Given the description of an element on the screen output the (x, y) to click on. 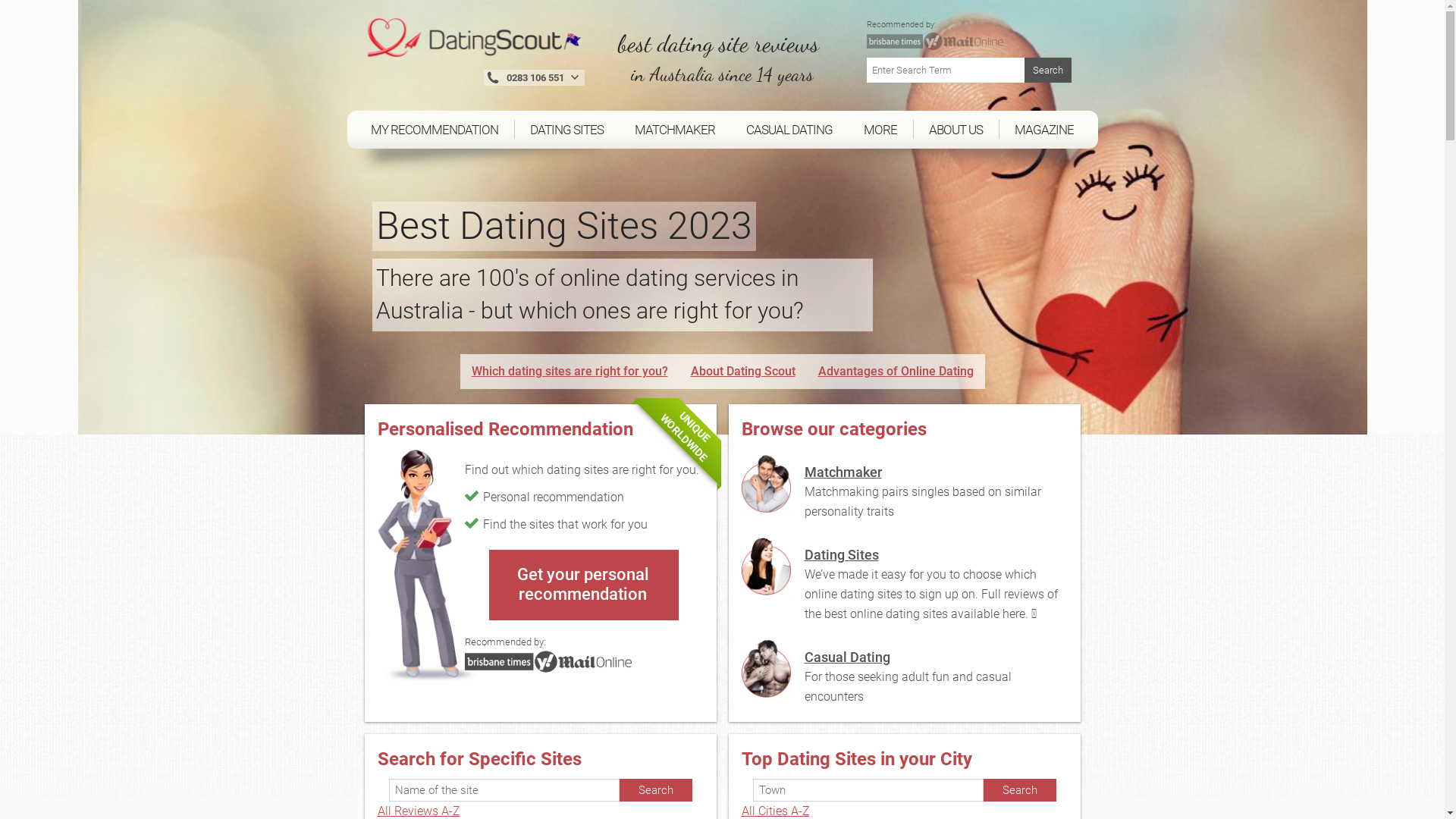
Search Element type: text (1018, 789)
CASUAL DATING Element type: text (789, 128)
About Dating Scout Element type: text (742, 371)
MY RECOMMENDATION Element type: text (434, 128)
All Cities A-Z Element type: text (775, 810)
Search Element type: text (654, 789)
Advantages of Online Dating Element type: text (894, 371)
Search Element type: text (1046, 69)
MAGAZINE Element type: text (1044, 128)
Get your personal recommendation Element type: text (583, 584)
Get your personal recommendation Element type: text (582, 584)
DATING SITES Element type: text (566, 128)
MATCHMAKER Element type: text (674, 128)
All Reviews A-Z Element type: text (418, 810)
Which dating sites are right for you? Element type: text (569, 371)
